Given the description of an element on the screen output the (x, y) to click on. 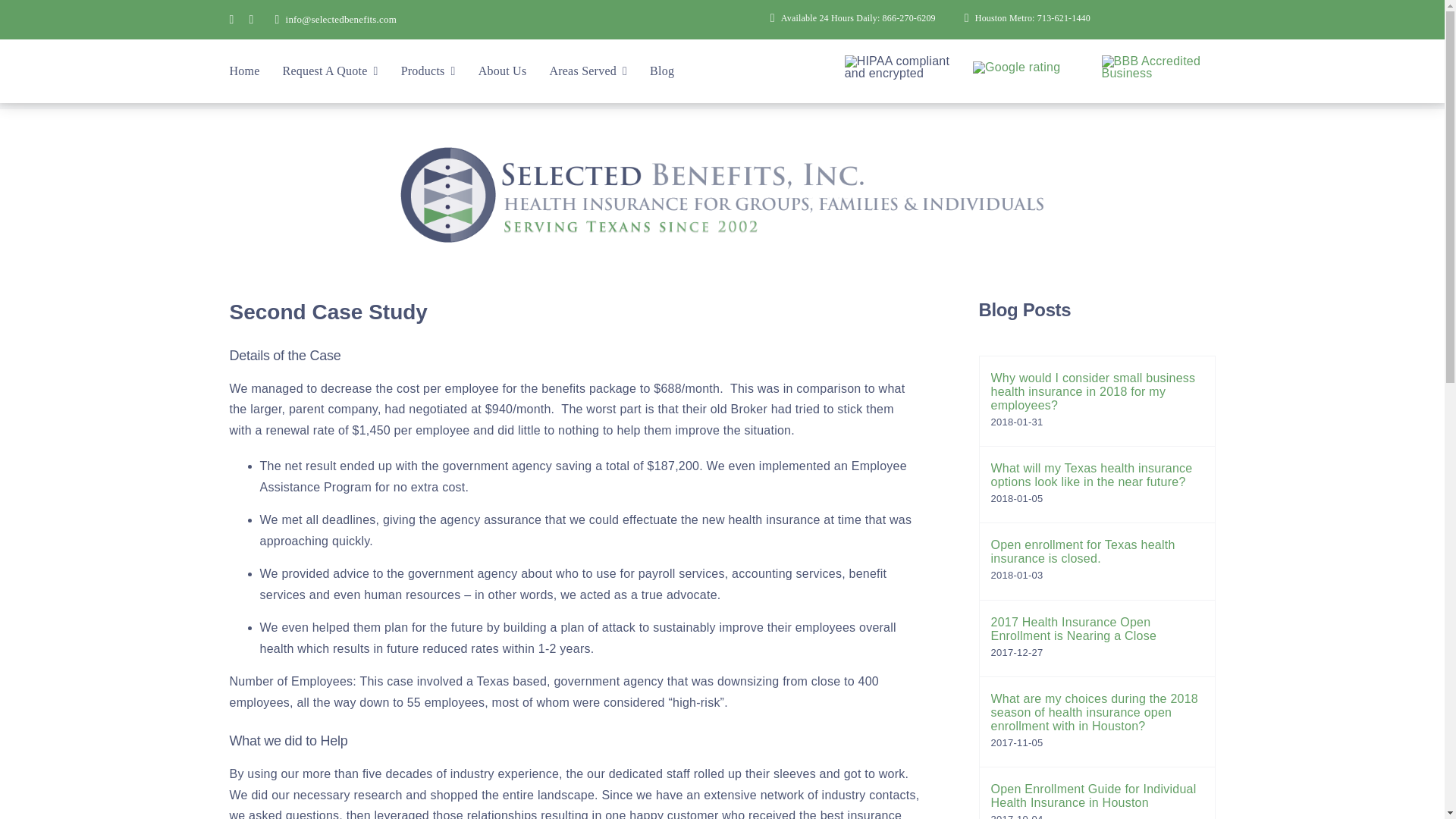
Available 24 Hours Daily: 866-270-6209 (850, 18)
HIPAA compliant and encrypted (901, 67)
Request A Quote (330, 70)
Houston Metro: 713-621-1440 (1024, 18)
Products (428, 70)
